Given the description of an element on the screen output the (x, y) to click on. 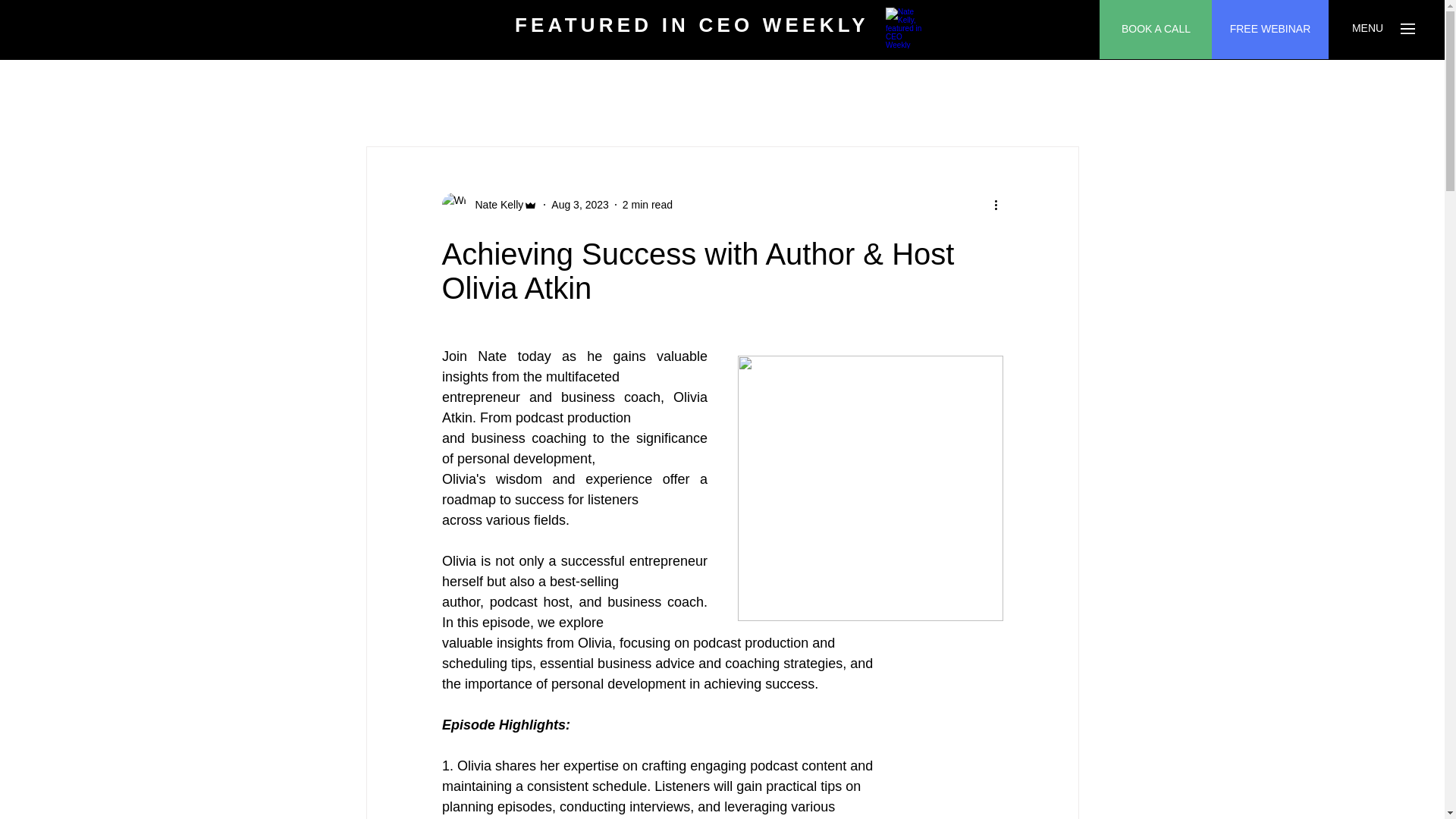
Nate Kelly (493, 204)
BOOK A CALL (1155, 29)
FREE WEBINAR (1269, 29)
Nate Kelly (489, 204)
2 min read (647, 204)
Aug 3, 2023 (579, 204)
